Given the description of an element on the screen output the (x, y) to click on. 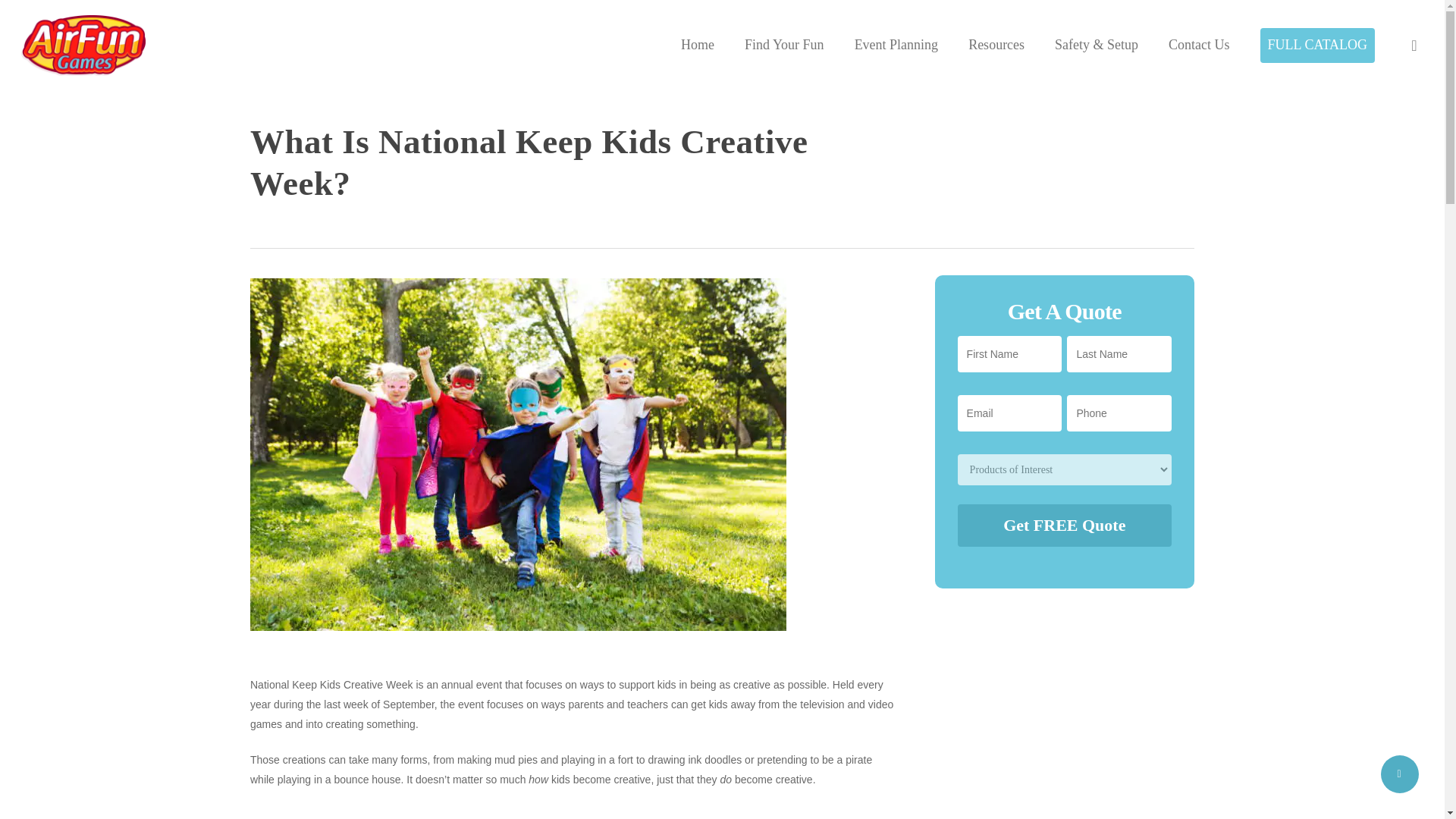
Get FREE Quote (1065, 525)
Contact Us (1199, 45)
search (1414, 45)
Get FREE Quote (1065, 525)
FULL CATALOG (1317, 44)
Resources (996, 45)
AirFunGames Homepage (697, 45)
Contact AirFunGames Today (1199, 45)
Find Your Fun (784, 45)
Tampa Event Rentals (896, 45)
